Given the description of an element on the screen output the (x, y) to click on. 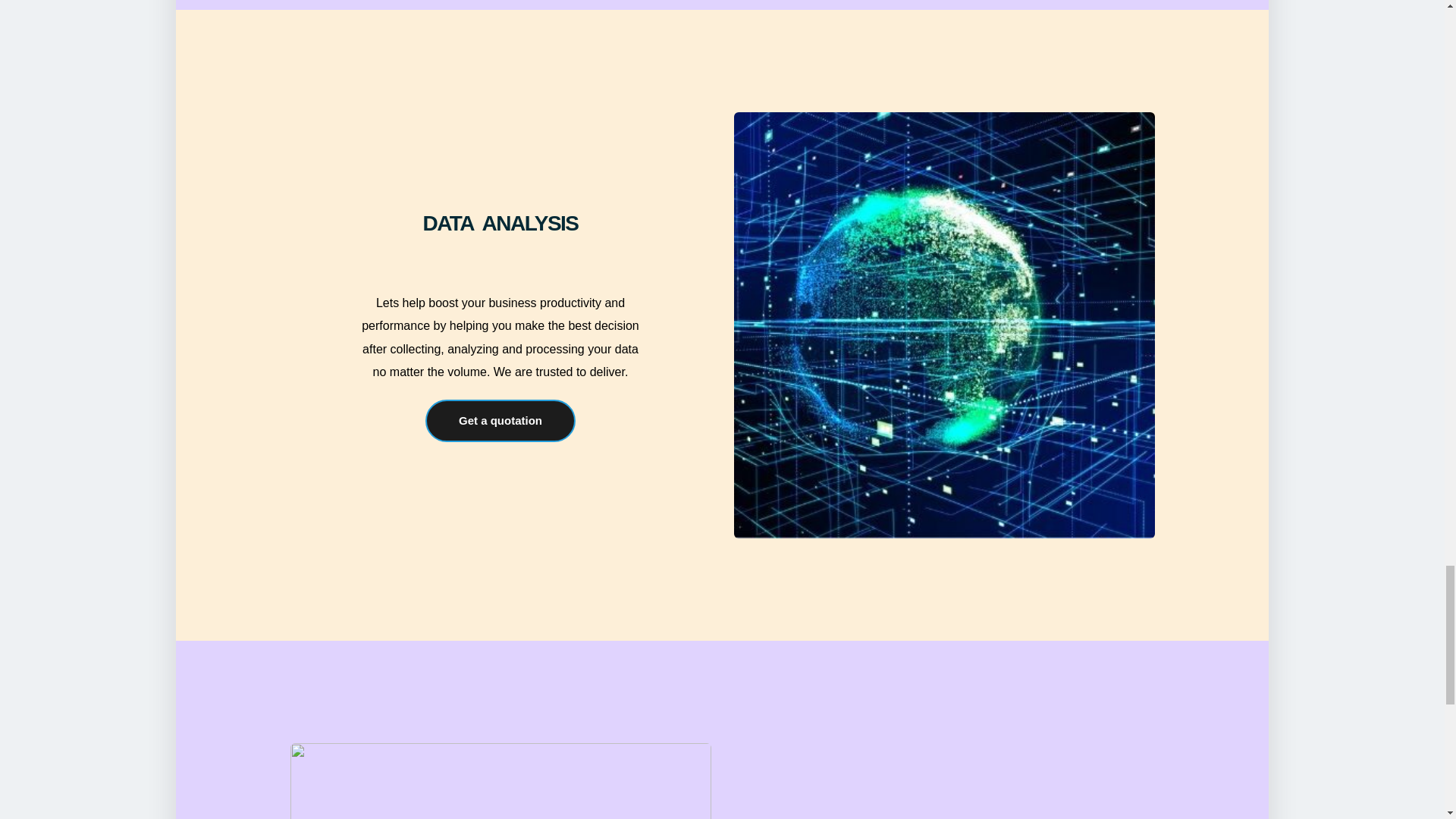
Get a quotation (500, 420)
